Given the description of an element on the screen output the (x, y) to click on. 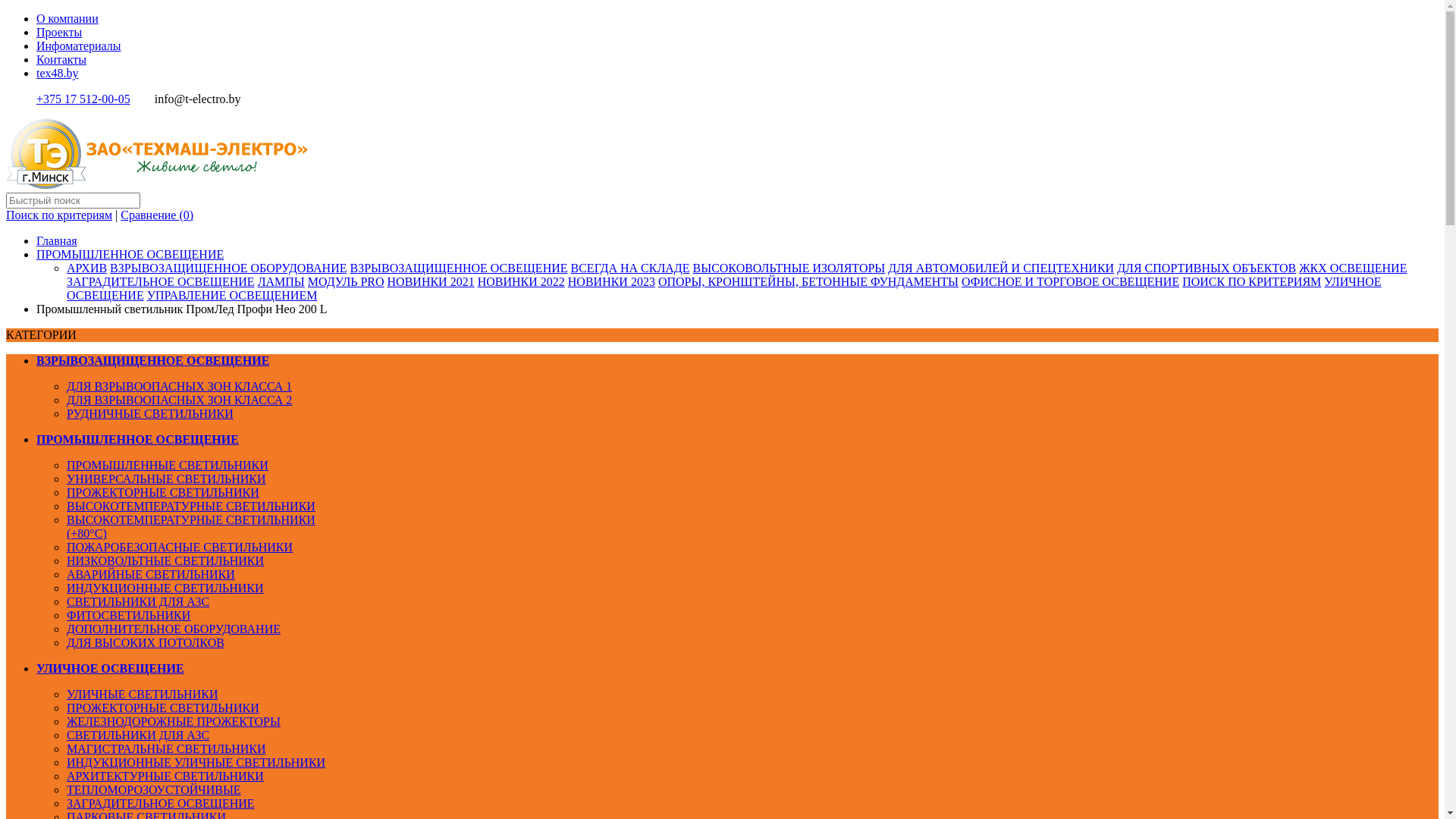
+375 17 512-00-05 Element type: text (83, 98)
tex48.by Element type: text (57, 72)
